Given the description of an element on the screen output the (x, y) to click on. 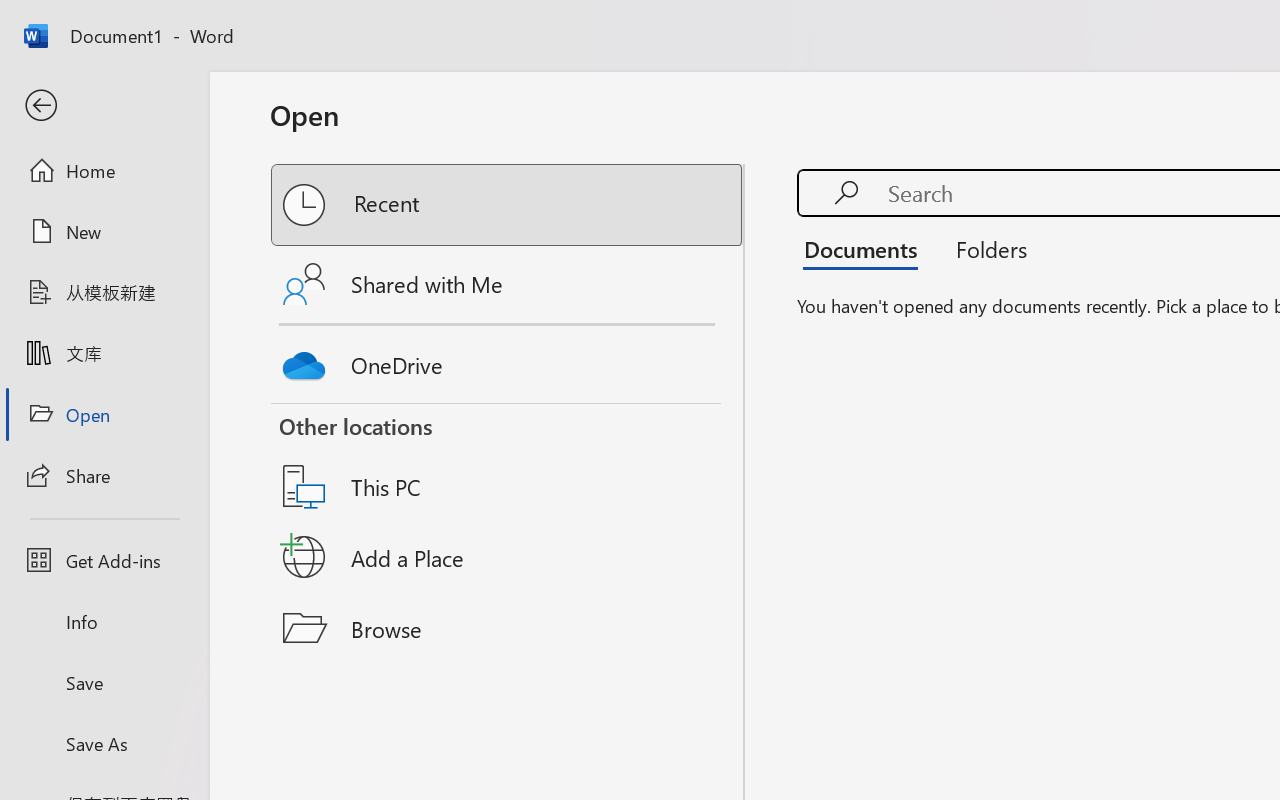
This PC (507, 461)
Documents (866, 248)
Back (104, 106)
Recent (507, 205)
OneDrive (507, 359)
Info (104, 621)
Folders (984, 248)
Save As (104, 743)
Shared with Me (507, 283)
